Given the description of an element on the screen output the (x, y) to click on. 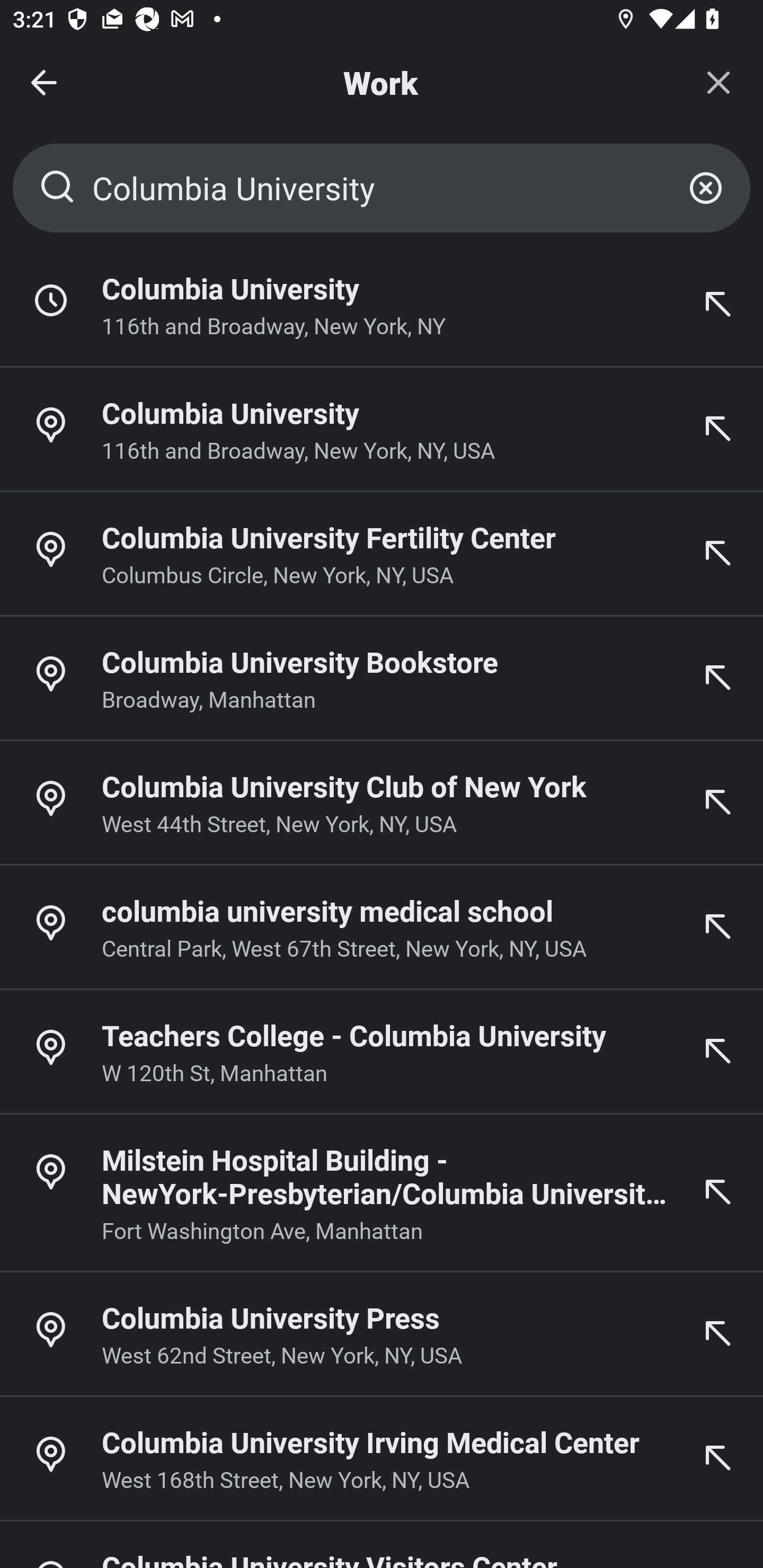
Columbia University (381, 188)
